Given the description of an element on the screen output the (x, y) to click on. 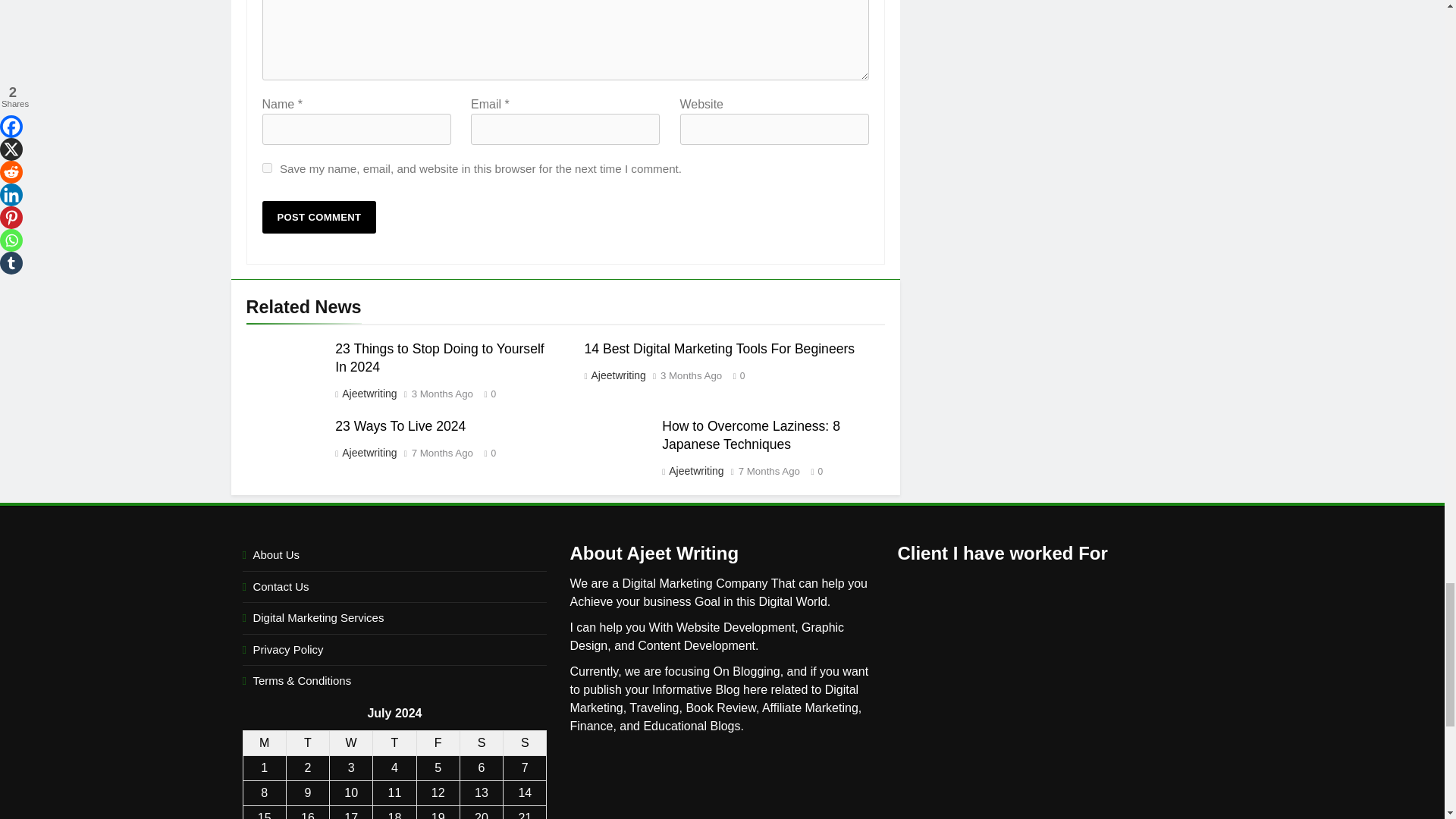
Post Comment (319, 216)
yes (267, 167)
